Given the description of an element on the screen output the (x, y) to click on. 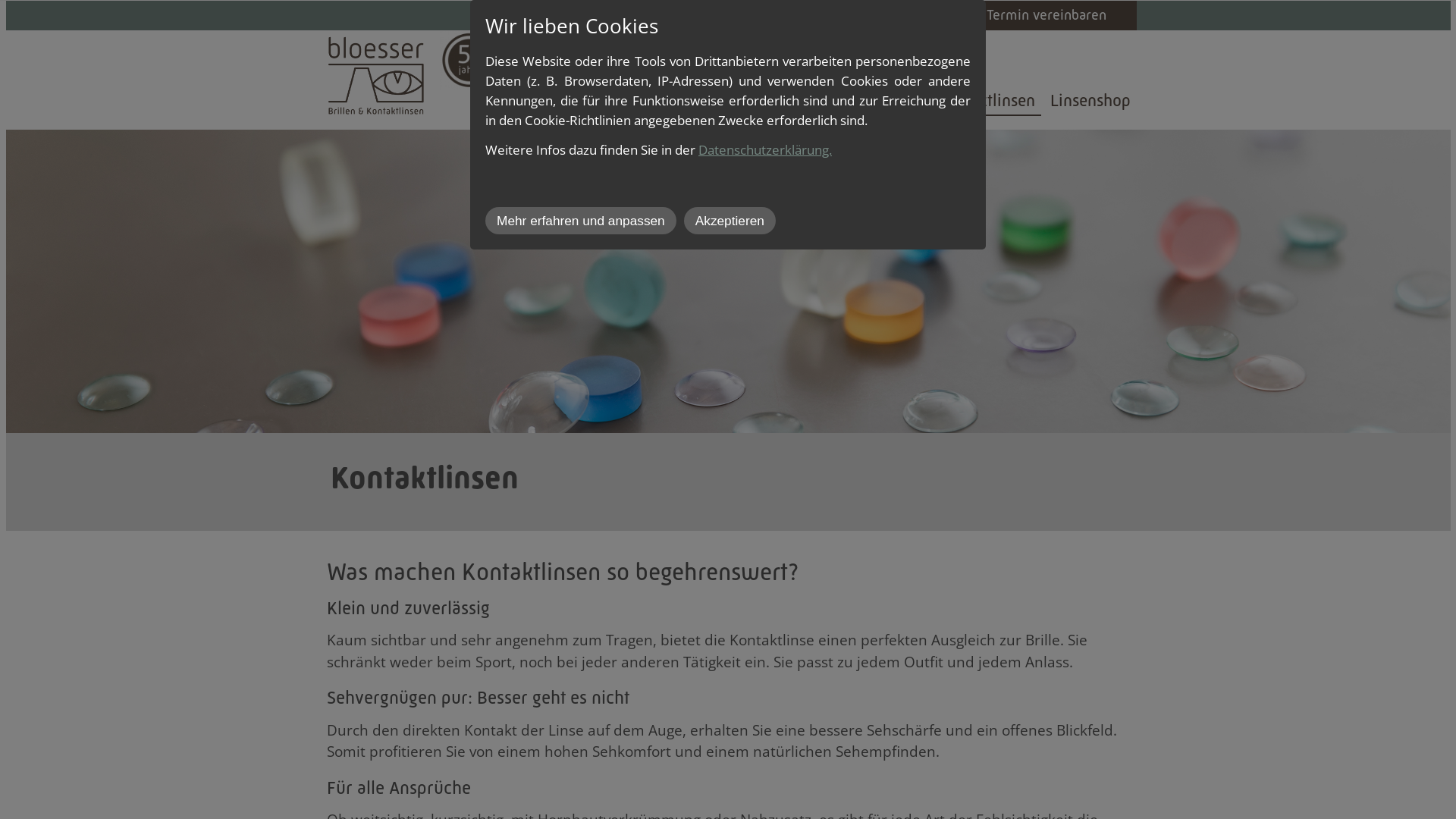
Brillen Element type: text (898, 99)
Optometrie Element type: text (819, 99)
Jobs Element type: text (841, 14)
Linsenshop Element type: text (1090, 99)
Kontaktlinsen Element type: text (986, 100)
Akzeptieren Element type: text (729, 221)
Aktuell Element type: text (782, 14)
Termin vereinbaren Element type: text (1046, 14)
Kontakt Element type: text (901, 14)
Mehr erfahren und anpassen Element type: text (580, 221)
Bloesser Optik Element type: text (713, 99)
